Given the description of an element on the screen output the (x, y) to click on. 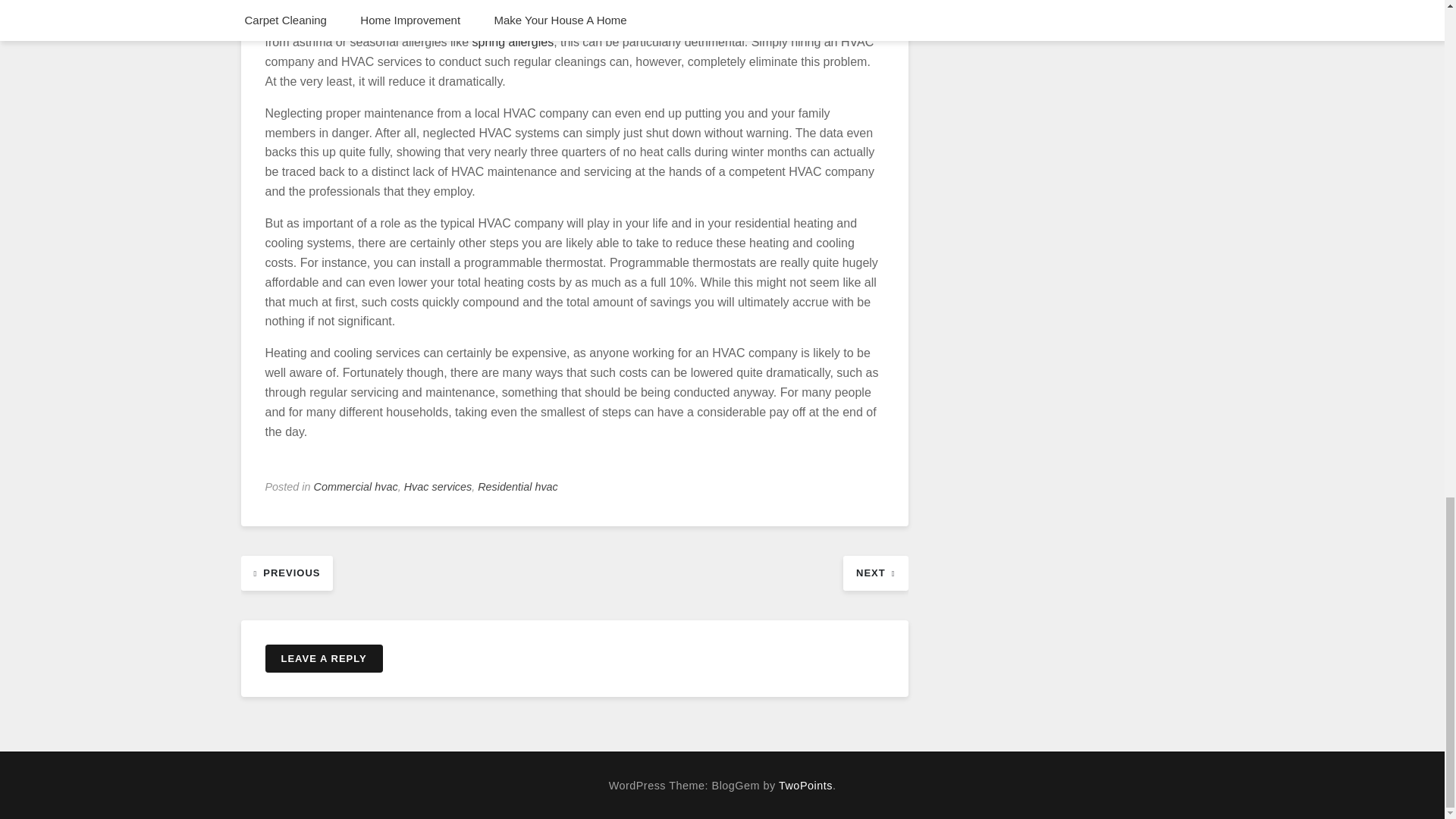
LEAVE A REPLY (323, 658)
TwoPoints (805, 785)
NEXT (875, 571)
Residential hvac (517, 486)
PREVIOUS (287, 571)
Commercial hvac (355, 486)
Hvac services (437, 486)
Browse more (512, 42)
spring allergies (512, 42)
